Given the description of an element on the screen output the (x, y) to click on. 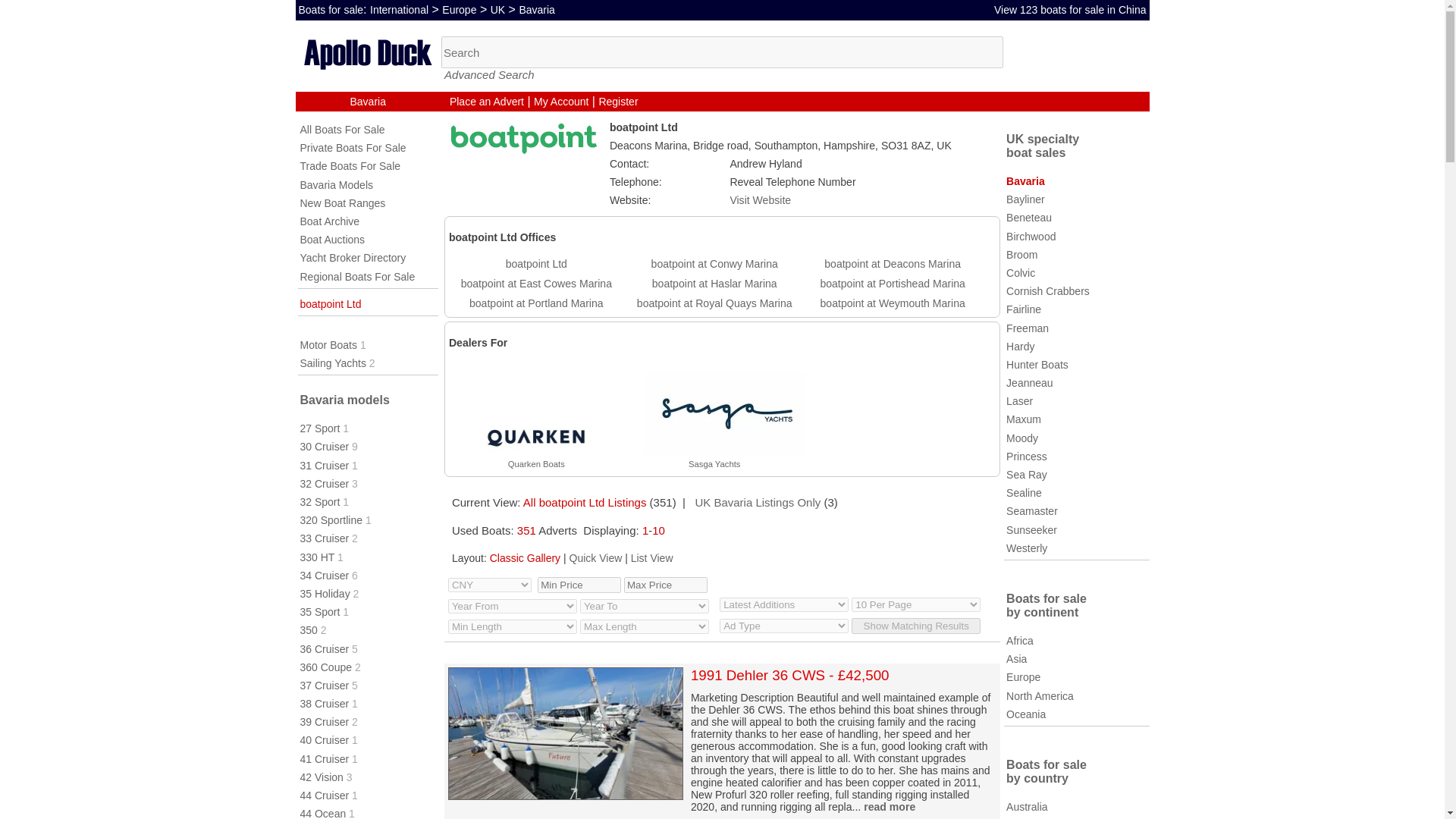
Europe (459, 9)
Place an Advert (486, 101)
New Boat Ranges (342, 203)
Boat Search (722, 51)
34 Cruiser (324, 575)
Bavaria (536, 9)
35 Sport (319, 612)
Boat Auctions (332, 239)
31 Cruiser (324, 465)
Register (617, 101)
